Given the description of an element on the screen output the (x, y) to click on. 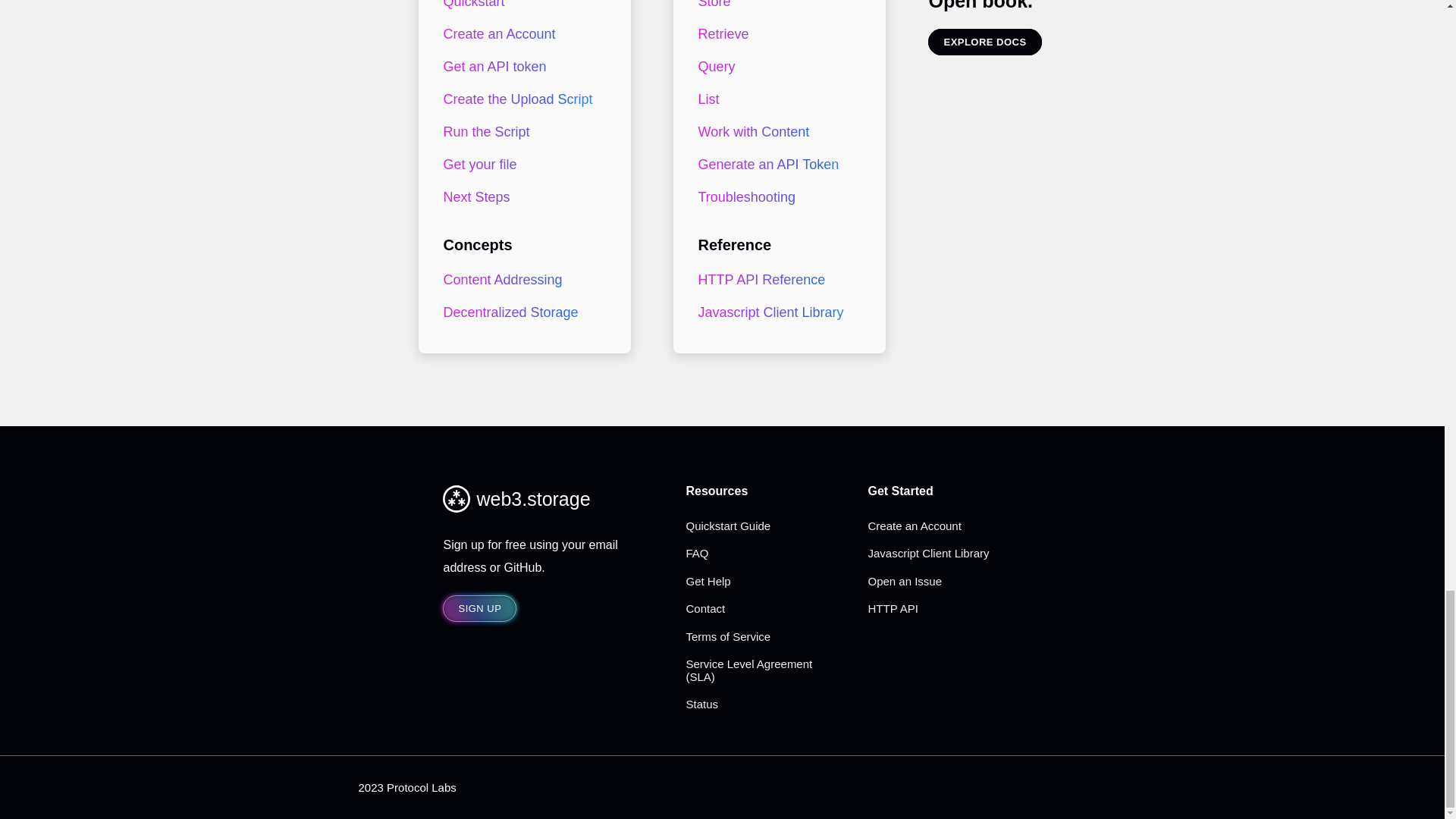
Create the Upload Script (520, 99)
Decentralized Storage (520, 312)
Create an Account (520, 34)
Get your file (520, 164)
Quickstart (520, 9)
Content Addressing (520, 279)
Next Steps (520, 196)
Get an API token (520, 66)
Run the Script (520, 132)
